Given the description of an element on the screen output the (x, y) to click on. 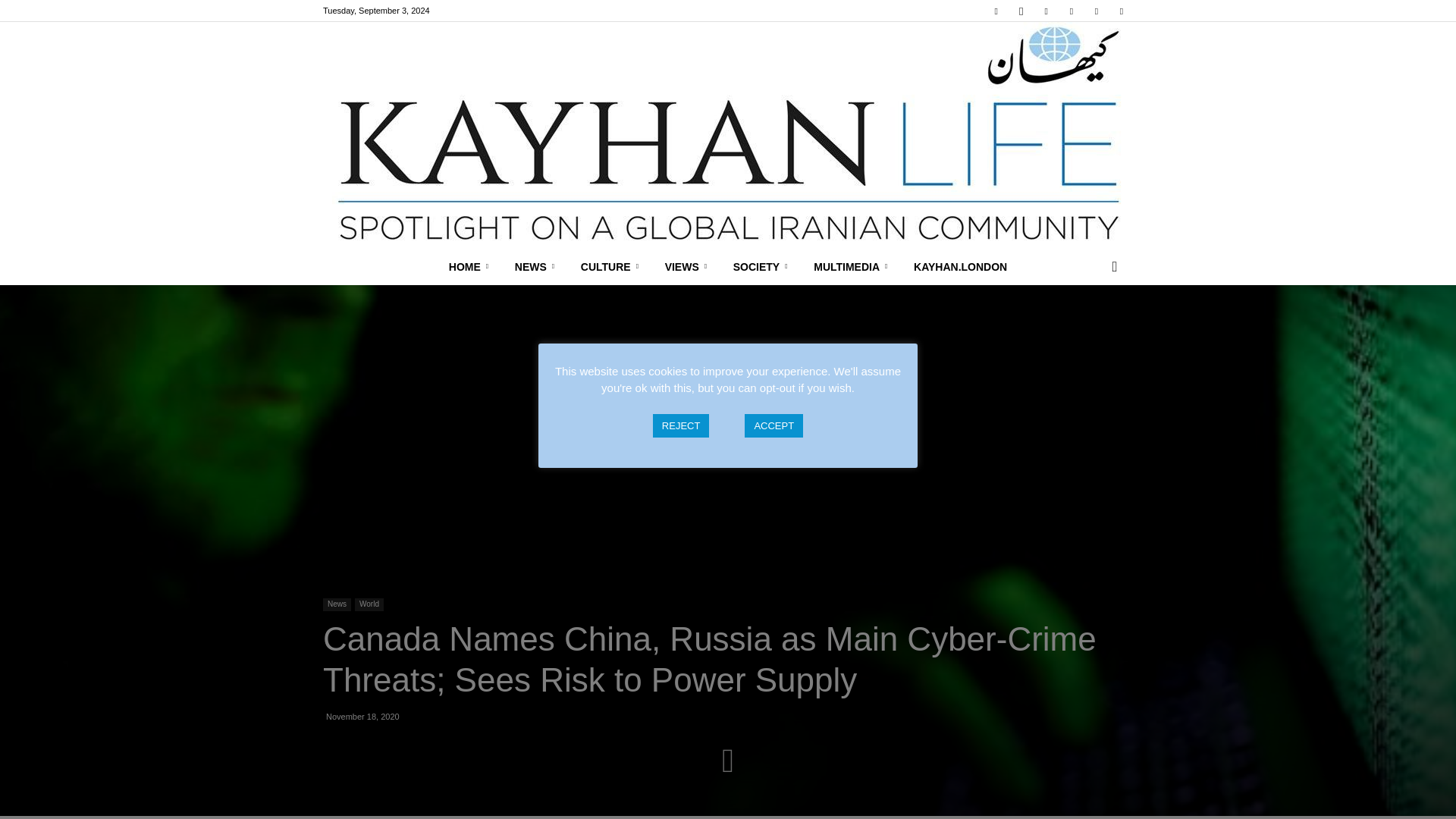
Instagram (1021, 10)
Linkedin (1046, 10)
Facebook (996, 10)
Twitter (1096, 10)
Youtube (1120, 10)
Pinterest (1071, 10)
